Given the description of an element on the screen output the (x, y) to click on. 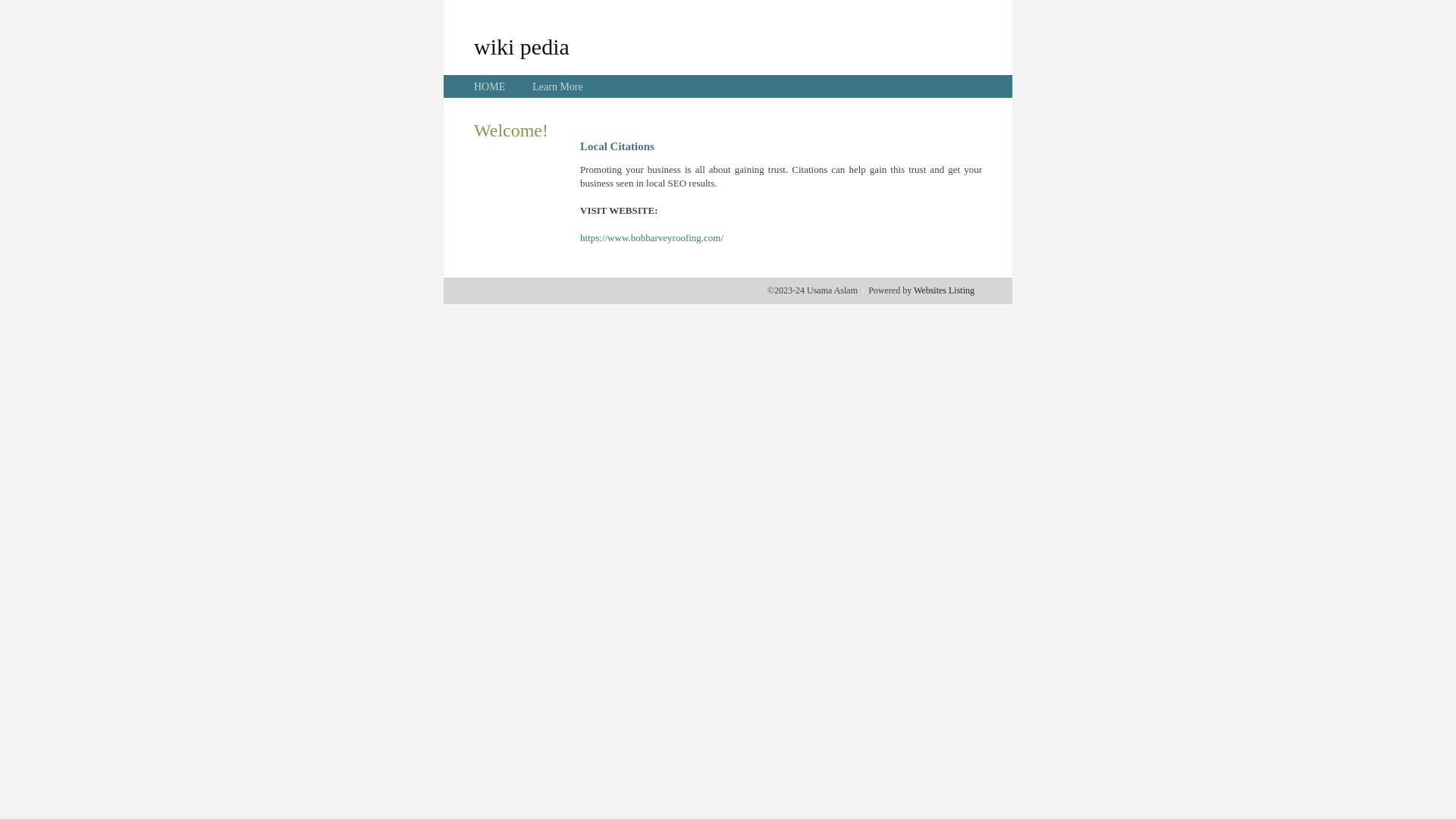
https://www.bobharveyroofing.com/ Element type: text (651, 237)
Websites Listing Element type: text (943, 290)
HOME Element type: text (489, 86)
Learn More Element type: text (557, 86)
wiki pedia Element type: text (521, 46)
